Given the description of an element on the screen output the (x, y) to click on. 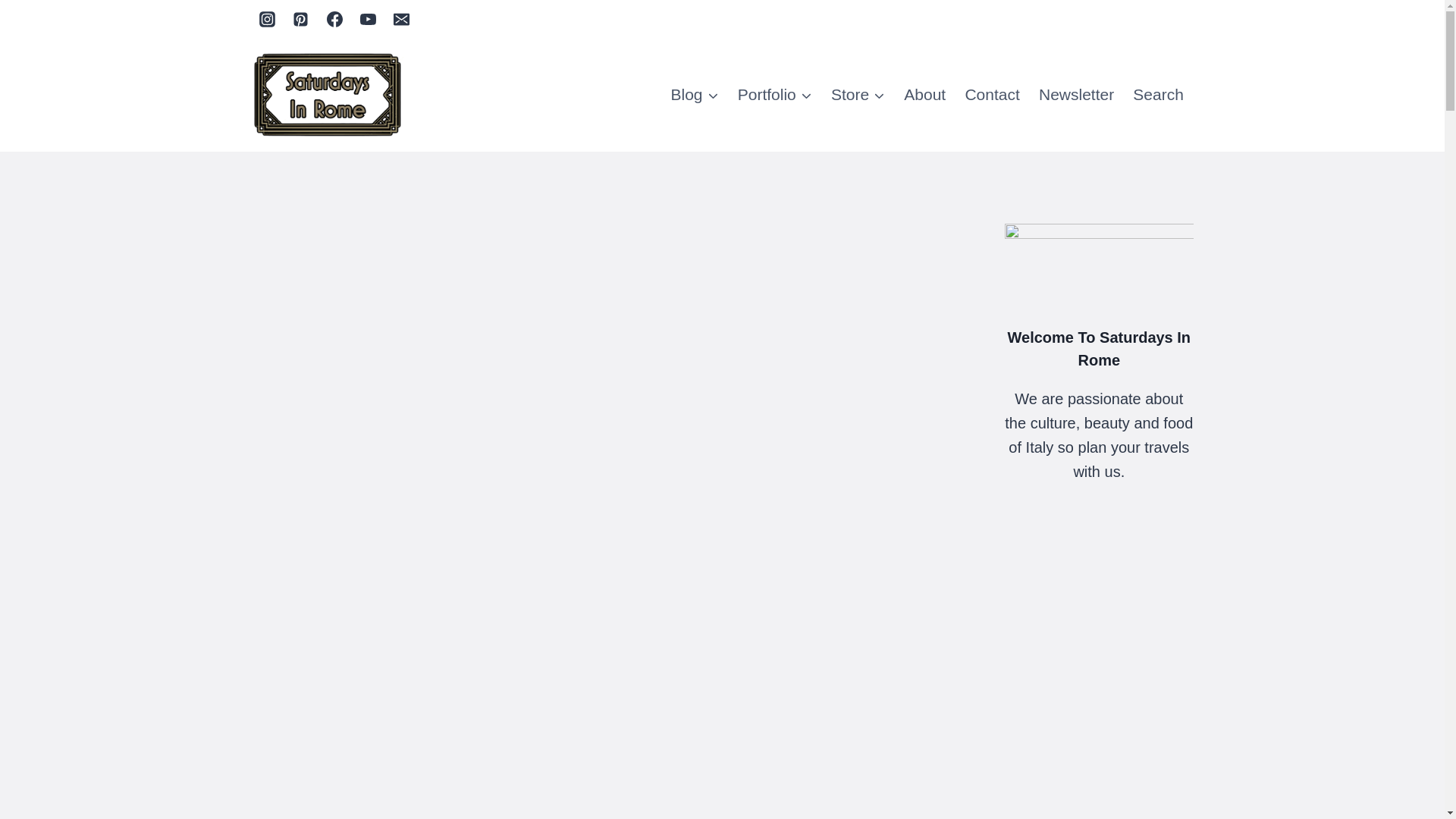
Newsletter (1075, 94)
Search (1158, 94)
Blog (694, 94)
About (925, 94)
Contact (992, 94)
Store (857, 94)
Portfolio (774, 94)
